Given the description of an element on the screen output the (x, y) to click on. 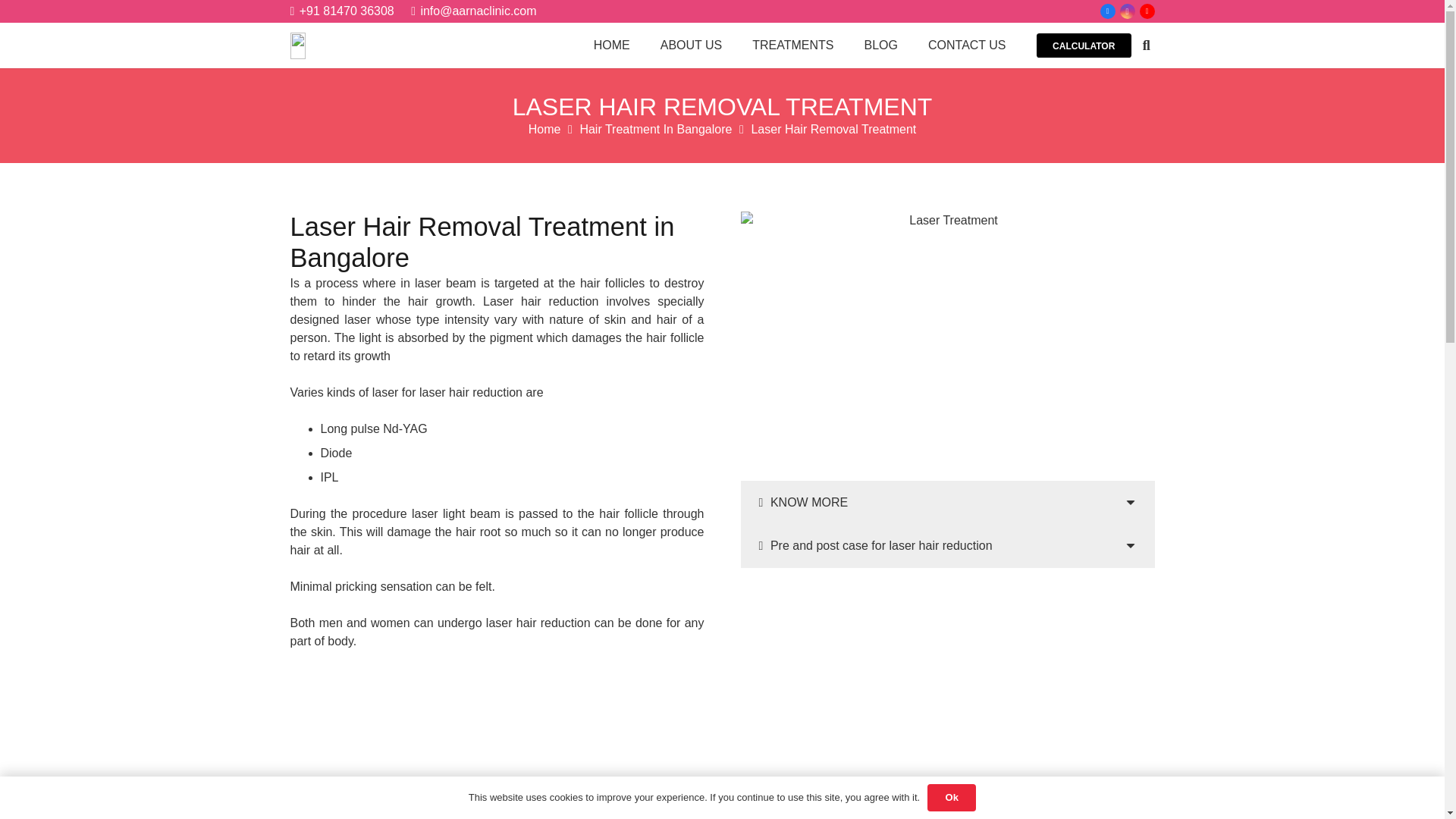
Make an Appointment (947, 615)
CALCULATOR (1083, 45)
BLOG (880, 44)
ABOUT US (691, 44)
Home (544, 128)
Pre and post case for laser hair reduction (946, 545)
HOME (611, 44)
Hair Treatment In Bangalore (655, 128)
Laser Hair Removal Treatment (833, 128)
TREATMENTS (792, 44)
Instagram (1127, 11)
CONTACT US (967, 44)
YouTube (1147, 11)
KNOW MORE (946, 502)
Facebook (1107, 11)
